Given the description of an element on the screen output the (x, y) to click on. 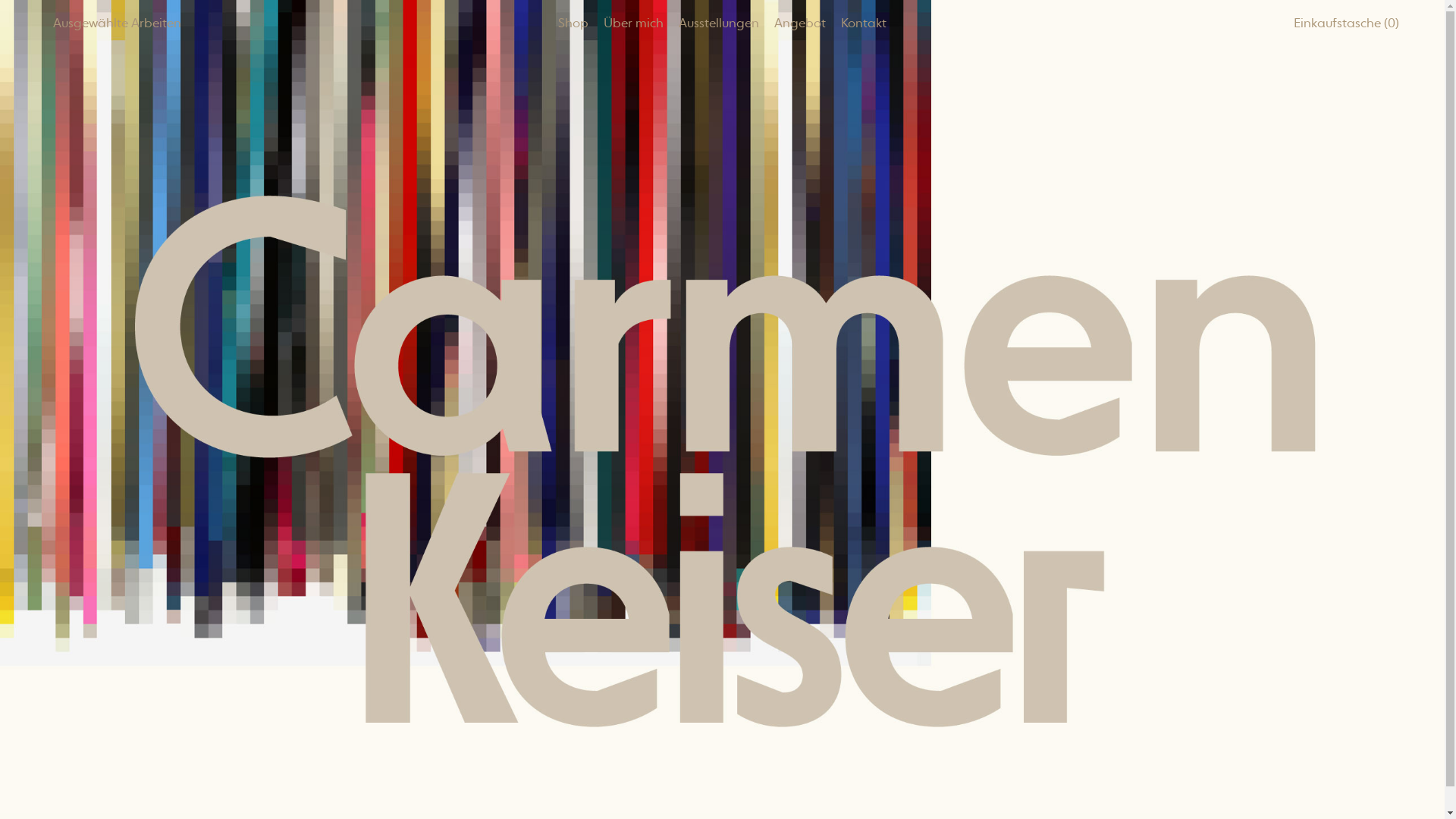
Shop Element type: text (573, 21)
Angebot Element type: text (799, 21)
Einkaufstasche (0) Element type: text (1338, 22)
Kontakt Element type: text (863, 21)
Ausstellungen Element type: text (718, 21)
